Given the description of an element on the screen output the (x, y) to click on. 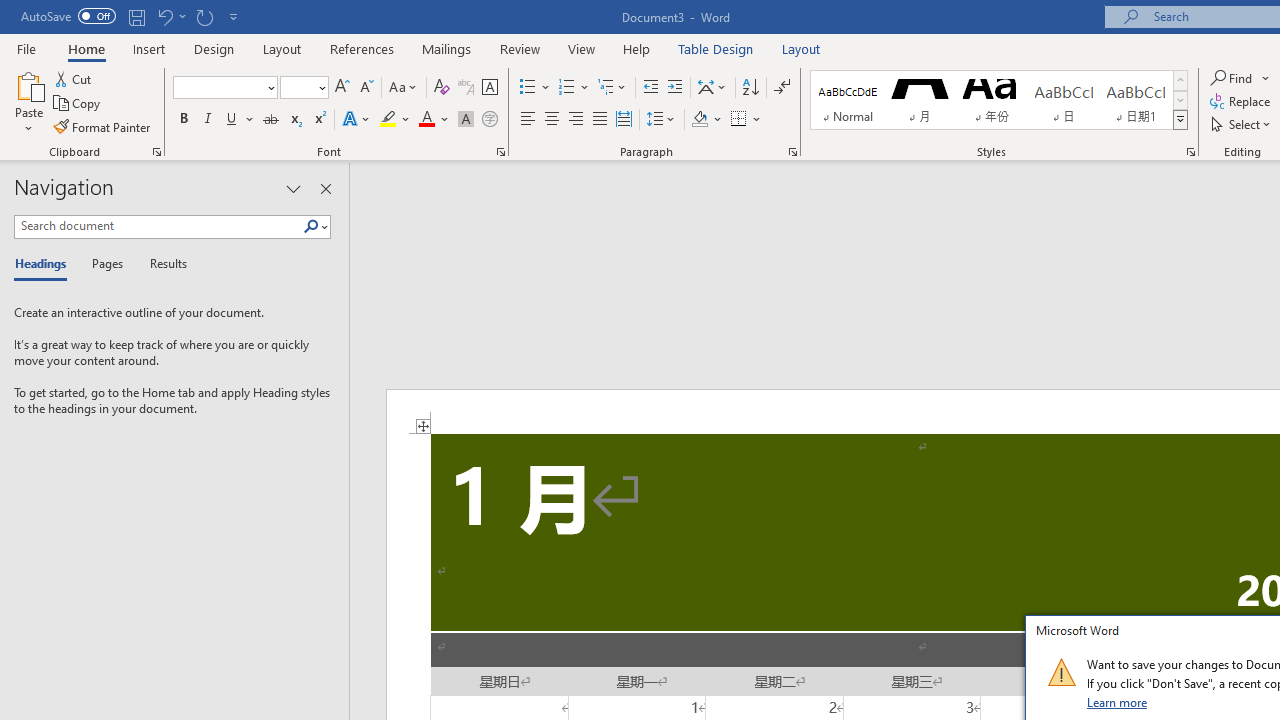
Bold (183, 119)
Find (1233, 78)
Styles... (1190, 151)
Line and Paragraph Spacing (661, 119)
Decrease Indent (650, 87)
Repeat Text Fill Effect (204, 15)
System (10, 11)
Row up (1179, 79)
Borders (739, 119)
Quick Access Toolbar (131, 16)
More Options (1266, 78)
Shading RGB(0, 0, 0) (699, 119)
Font... (500, 151)
Increase Indent (675, 87)
Numbering (573, 87)
